Given the description of an element on the screen output the (x, y) to click on. 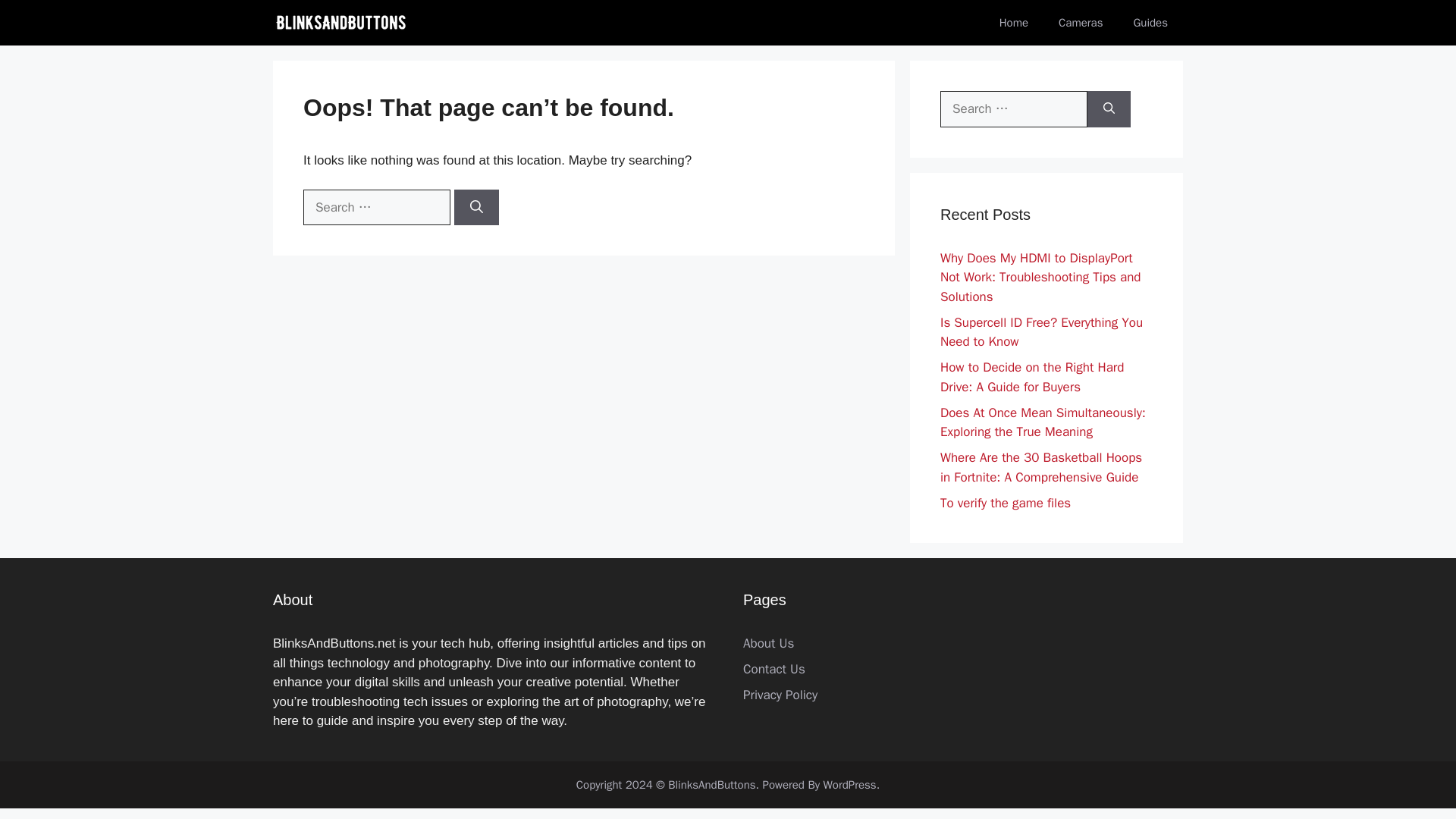
To verify the game files (1005, 502)
Is Supercell ID Free? Everything You Need to Know (1041, 331)
Home (1013, 22)
Guides (1150, 22)
Privacy Policy (779, 694)
Contact Us (773, 668)
WordPress (850, 784)
Search for: (375, 207)
BlinksAndButtons (341, 22)
How to Decide on the Right Hard Drive: A Guide for Buyers (1032, 376)
BlinksAndButtons (711, 784)
Cameras (1080, 22)
Does At Once Mean Simultaneously: Exploring the True Meaning (1042, 422)
